Given the description of an element on the screen output the (x, y) to click on. 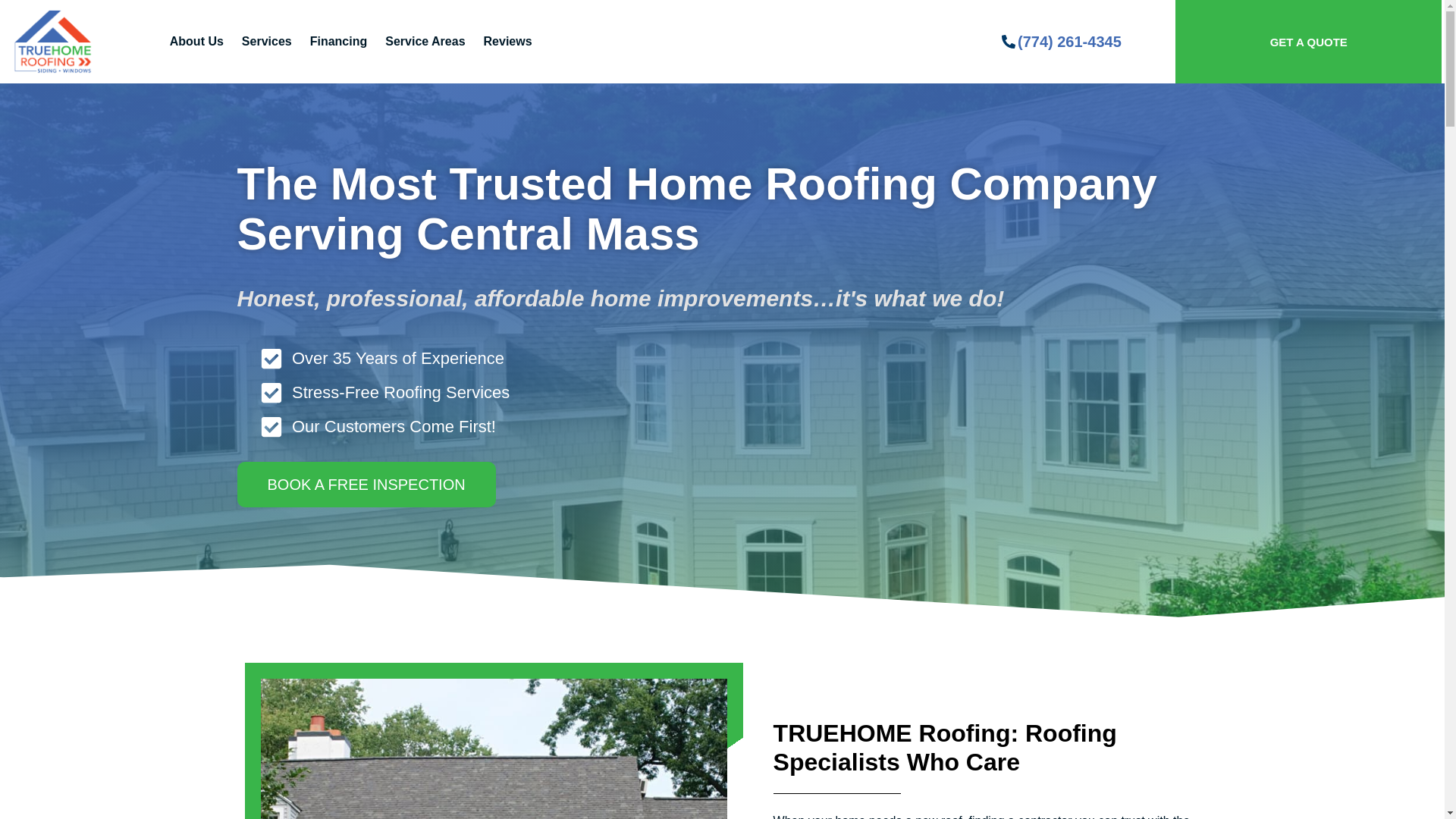
GET A QUOTE (1308, 41)
Service Areas (424, 41)
Services (266, 41)
Reviews (507, 41)
About Us (196, 41)
Financing (339, 41)
